Given the description of an element on the screen output the (x, y) to click on. 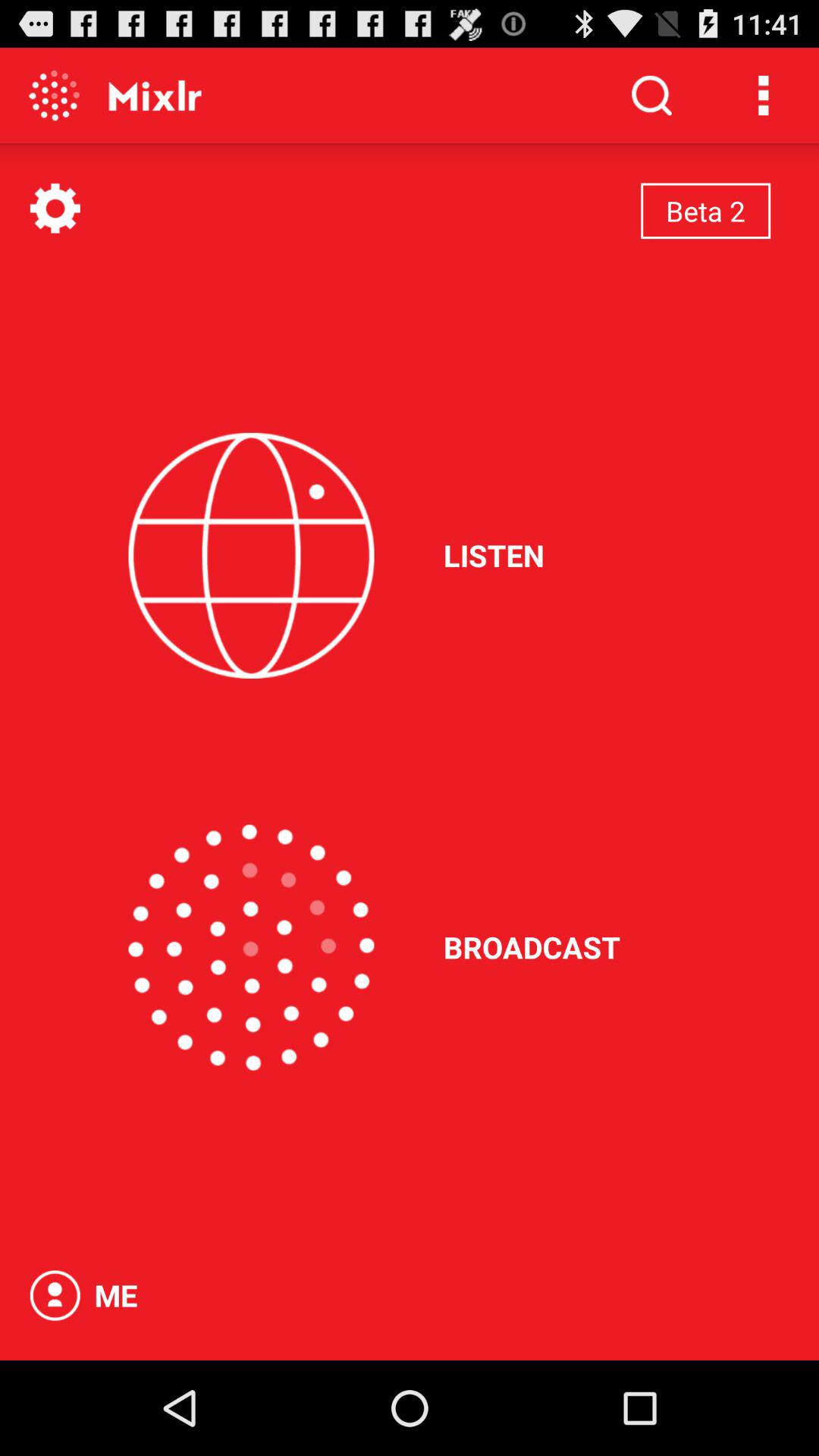
go to me (55, 1295)
